Given the description of an element on the screen output the (x, y) to click on. 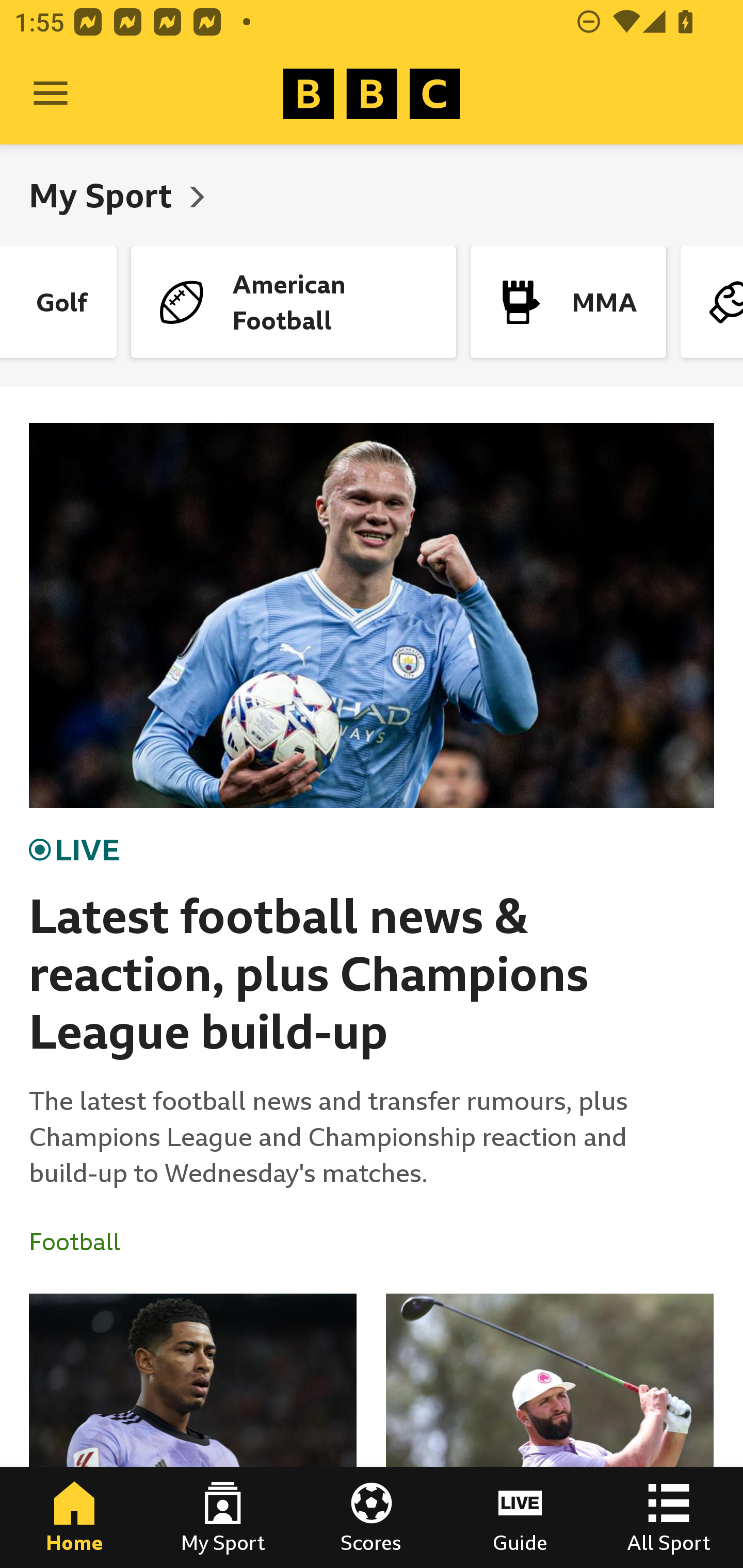
Open Menu (50, 93)
My Sport (104, 195)
Football In the section Football (81, 1241)
Real midfielder Bellingham banned for two games (192, 1430)
My Sport (222, 1517)
Scores (371, 1517)
Guide (519, 1517)
All Sport (668, 1517)
